Given the description of an element on the screen output the (x, y) to click on. 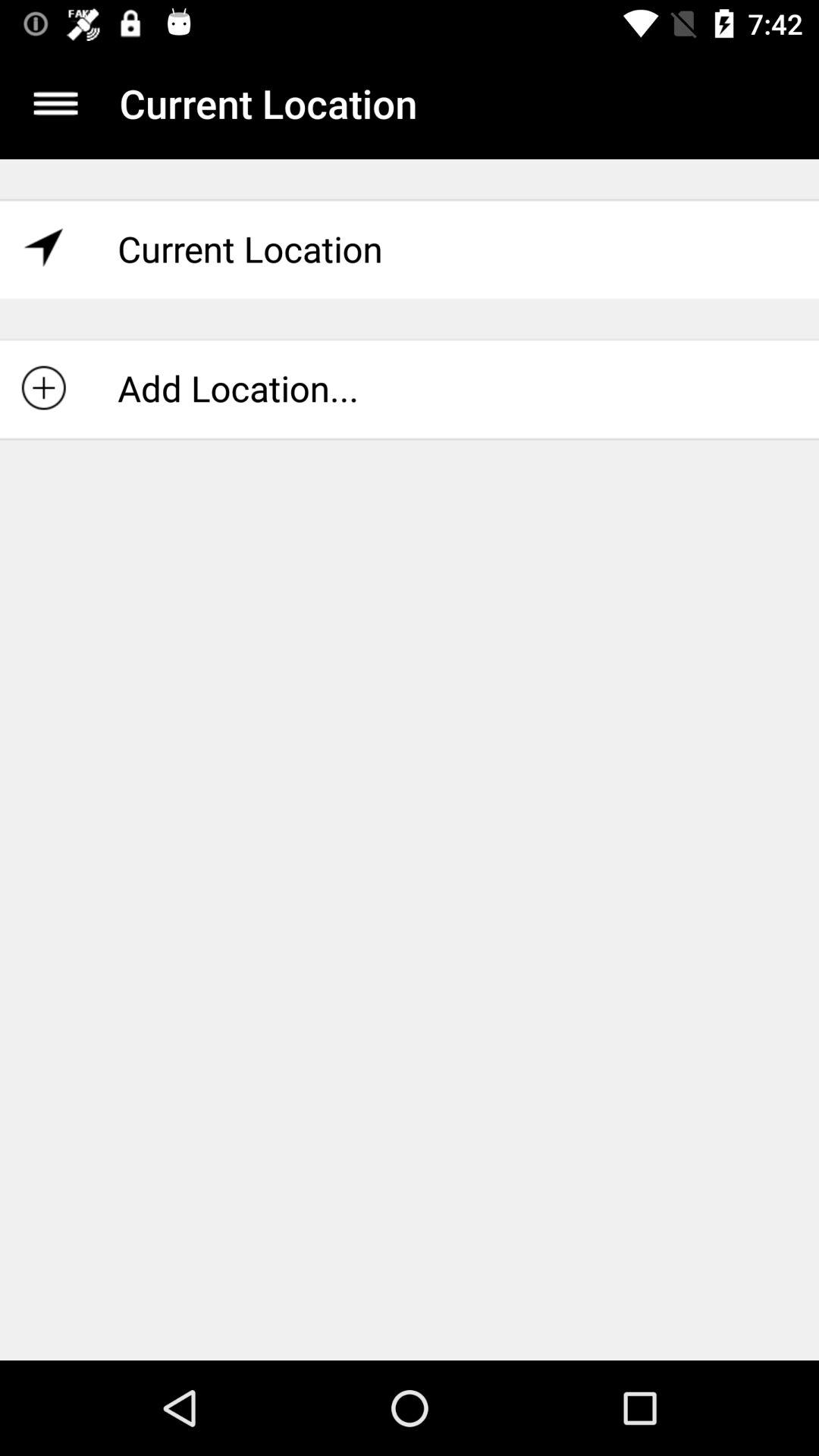
turn on the app next to current location icon (55, 103)
